Given the description of an element on the screen output the (x, y) to click on. 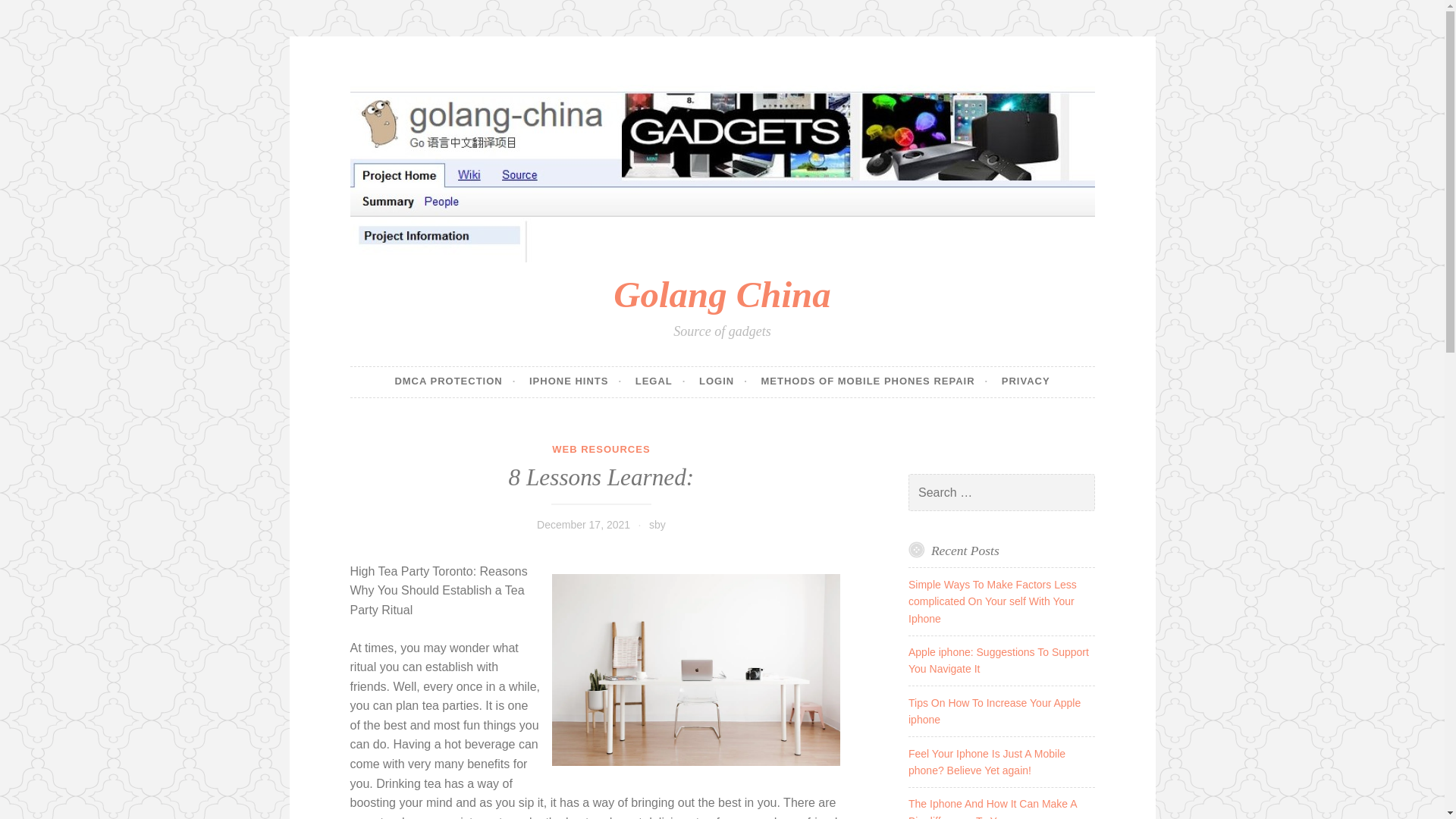
Search (33, 13)
Feel Your Iphone Is Just A Mobile phone? Believe Yet again! (986, 761)
The Iphone And How It Can Make A Big difference To You (992, 808)
DMCA PROTECTION (454, 381)
IPHONE HINTS (575, 381)
Golang China (720, 294)
December 17, 2021 (583, 524)
Apple iphone: Suggestions To Support You Navigate It (998, 660)
METHODS OF MOBILE PHONES REPAIR (874, 381)
PRIVACY (1025, 381)
Tips On How To Increase Your Apple iphone (994, 710)
WEB RESOURCES (600, 449)
sby (657, 524)
